Given the description of an element on the screen output the (x, y) to click on. 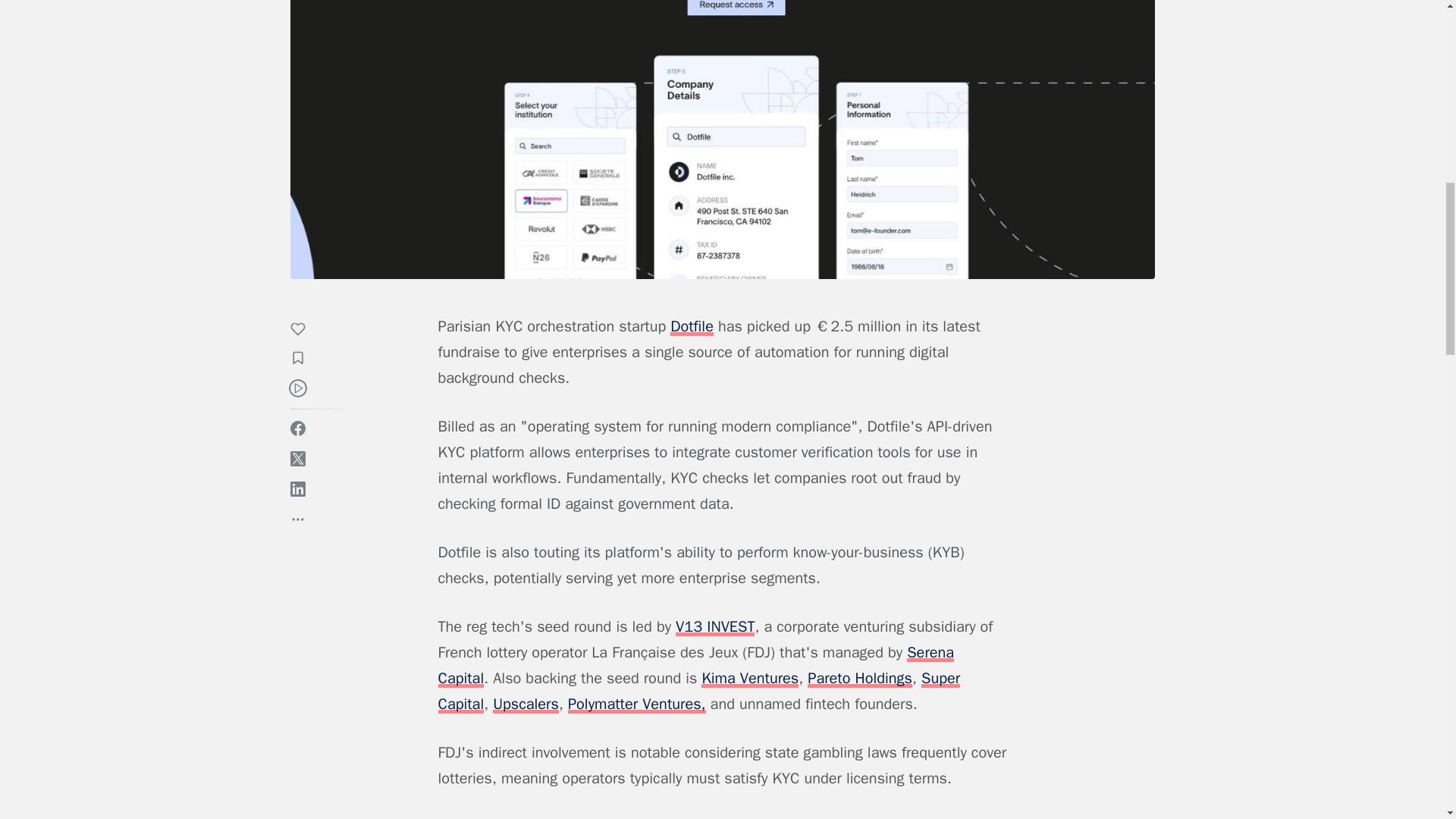
Add to collection (304, 360)
Share on Twitter (296, 458)
Share on Facebook (296, 427)
Share on Linkedin (296, 488)
Listen this article (296, 388)
Like (304, 331)
